Given the description of an element on the screen output the (x, y) to click on. 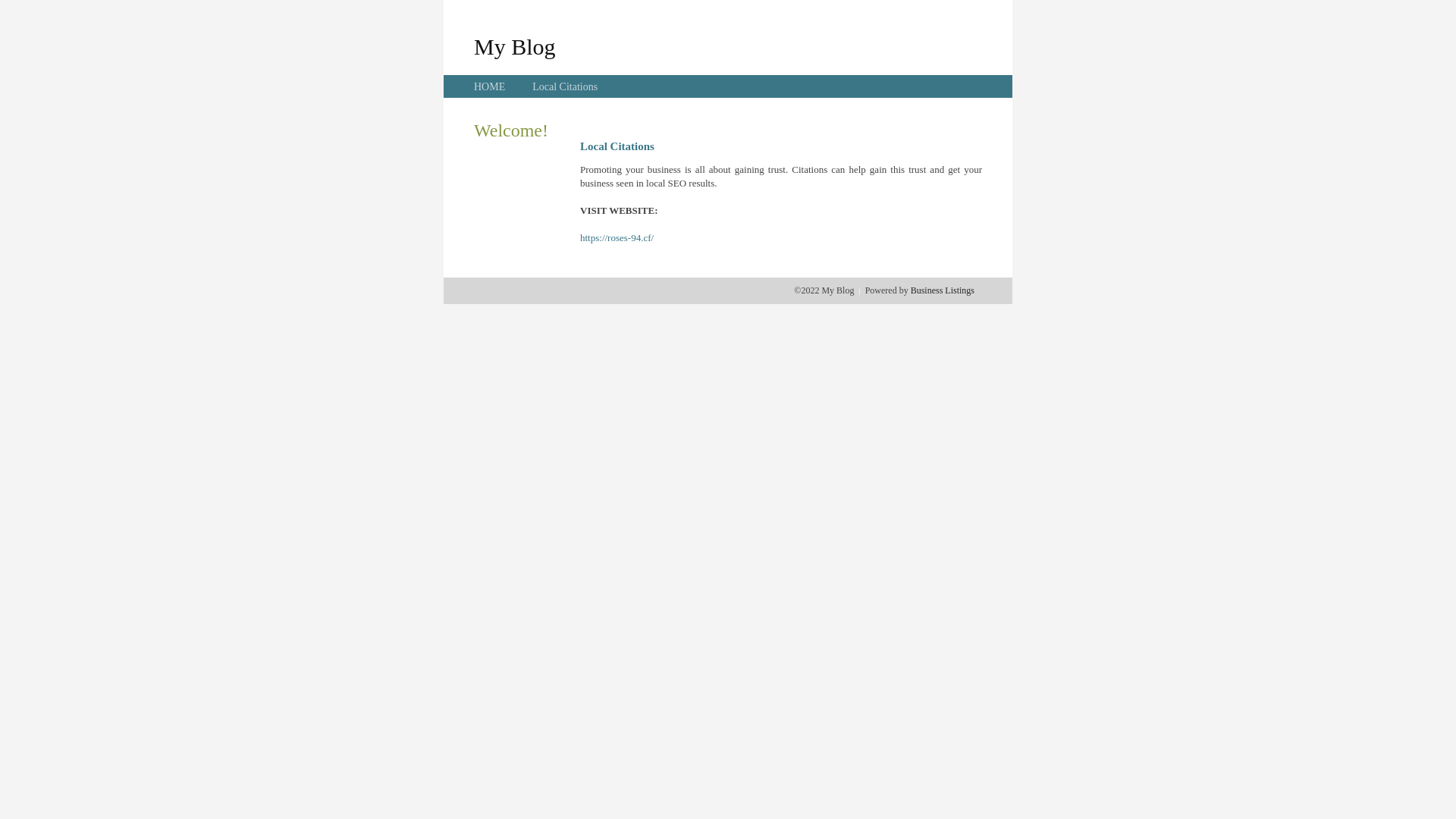
Business Listings Element type: text (942, 290)
Local Citations Element type: text (564, 86)
https://roses-94.cf/ Element type: text (616, 237)
HOME Element type: text (489, 86)
My Blog Element type: text (514, 46)
